Given the description of an element on the screen output the (x, y) to click on. 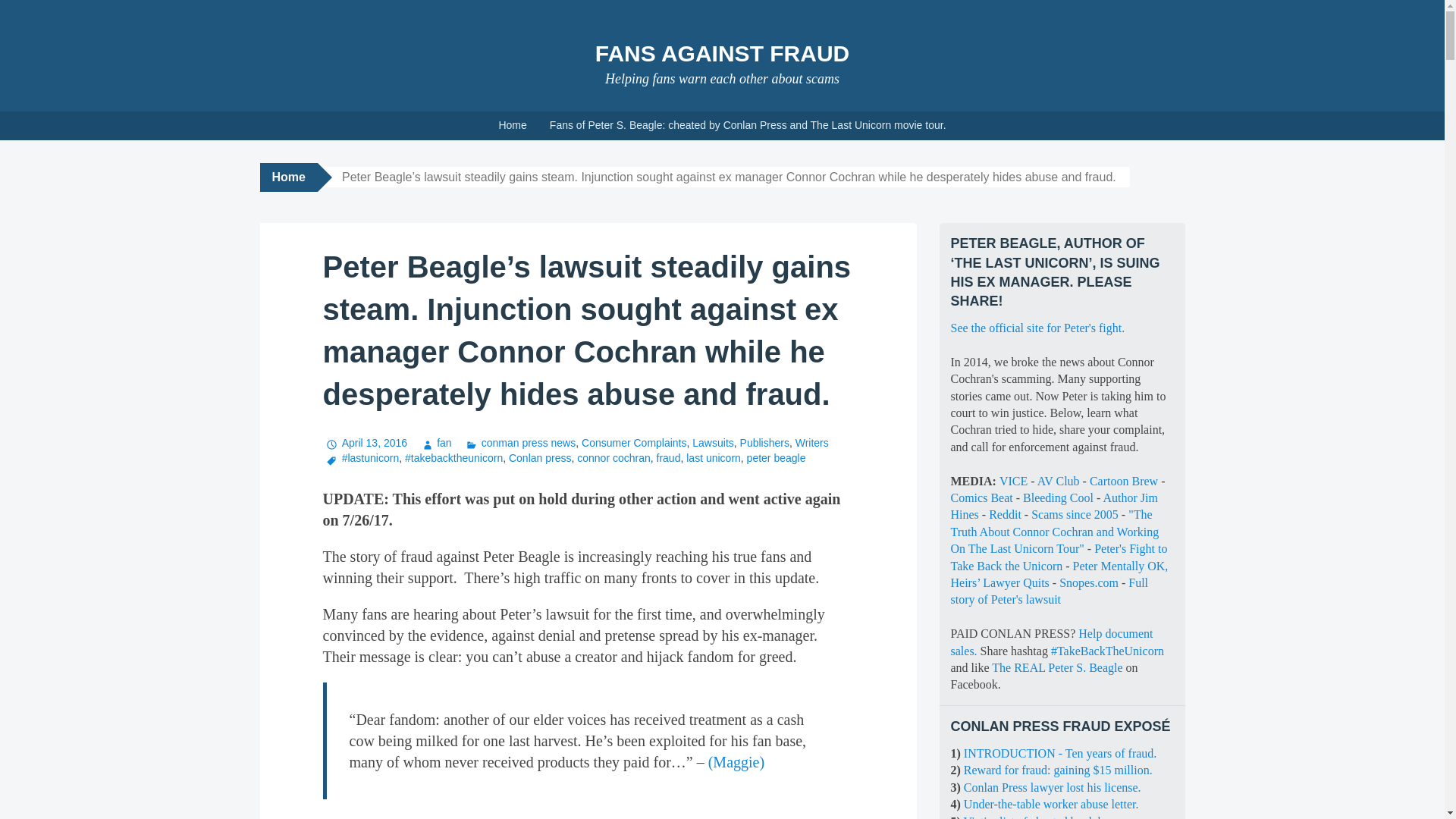
Skip to content (10, 117)
April 13, 2016 (365, 442)
Writers (811, 442)
conman press news (519, 442)
Home (288, 176)
FANS AGAINST FRAUD (722, 53)
Conlan press (540, 458)
peter beagle (776, 458)
Consumer Complaints (633, 442)
fraud (668, 458)
connor cochran (613, 458)
Publishers (764, 442)
last unicorn (713, 458)
Home (511, 125)
